Given the description of an element on the screen output the (x, y) to click on. 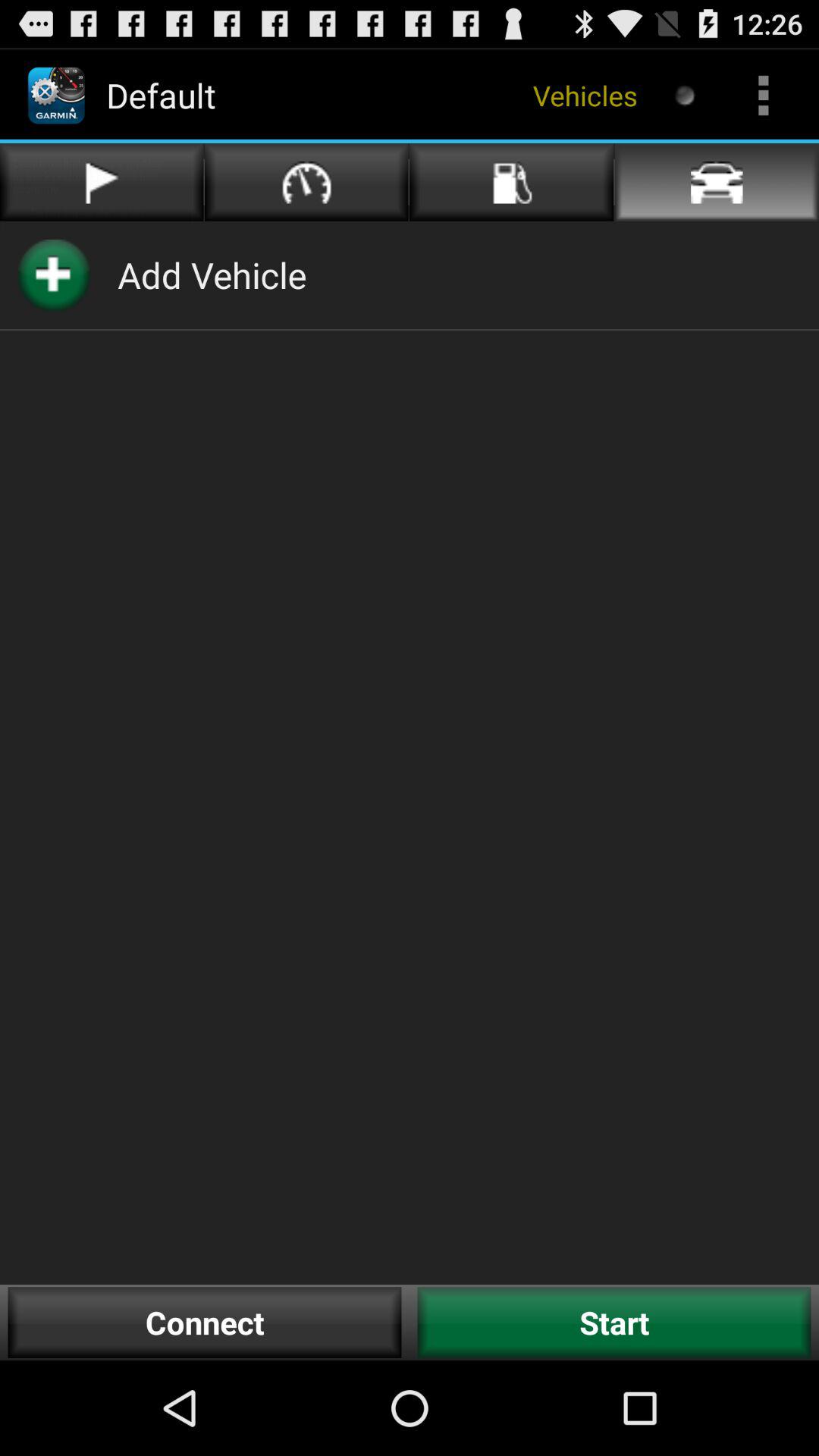
launch connect (204, 1322)
